Given the description of an element on the screen output the (x, y) to click on. 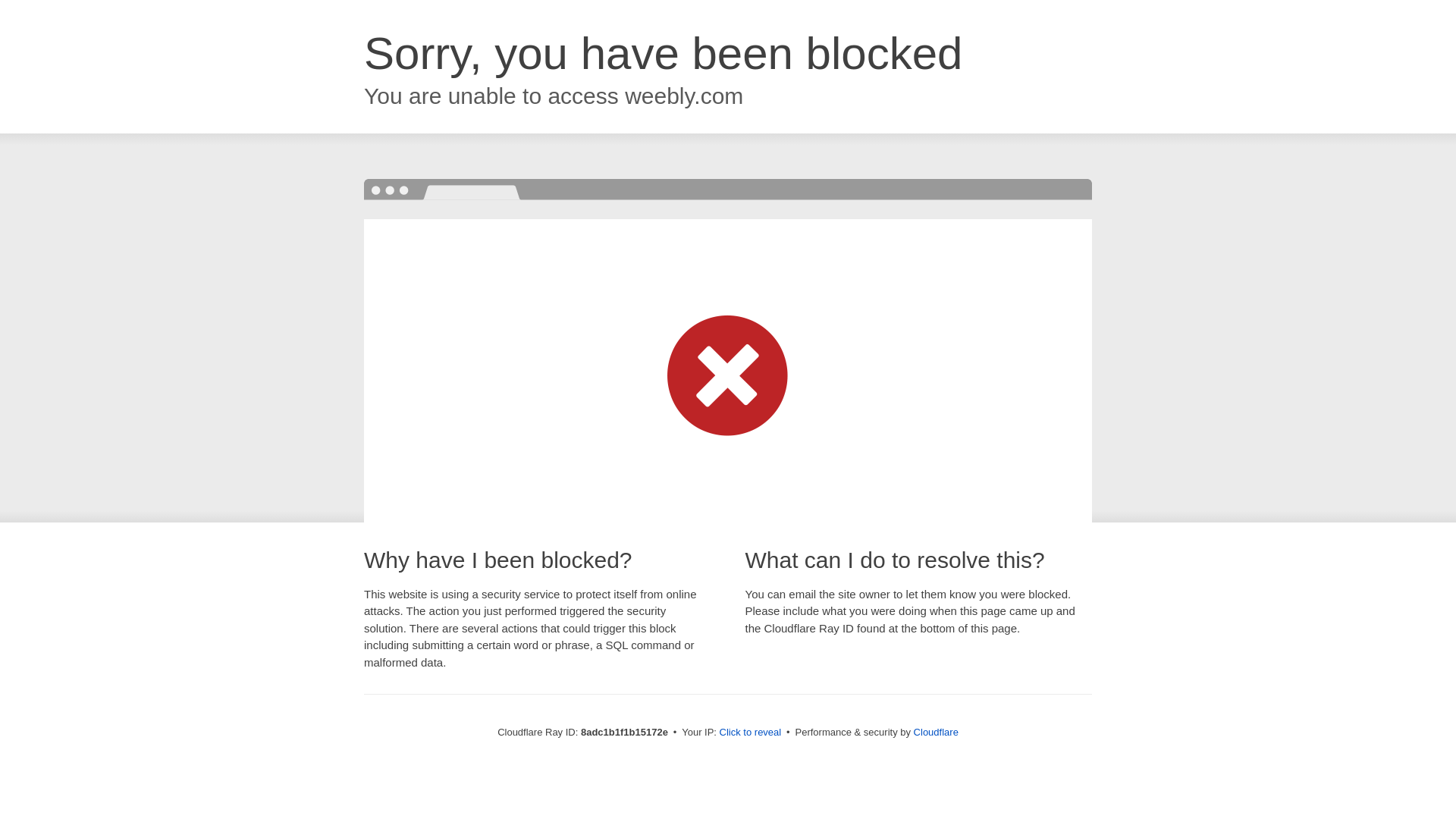
Cloudflare (936, 731)
Click to reveal (750, 732)
